Given the description of an element on the screen output the (x, y) to click on. 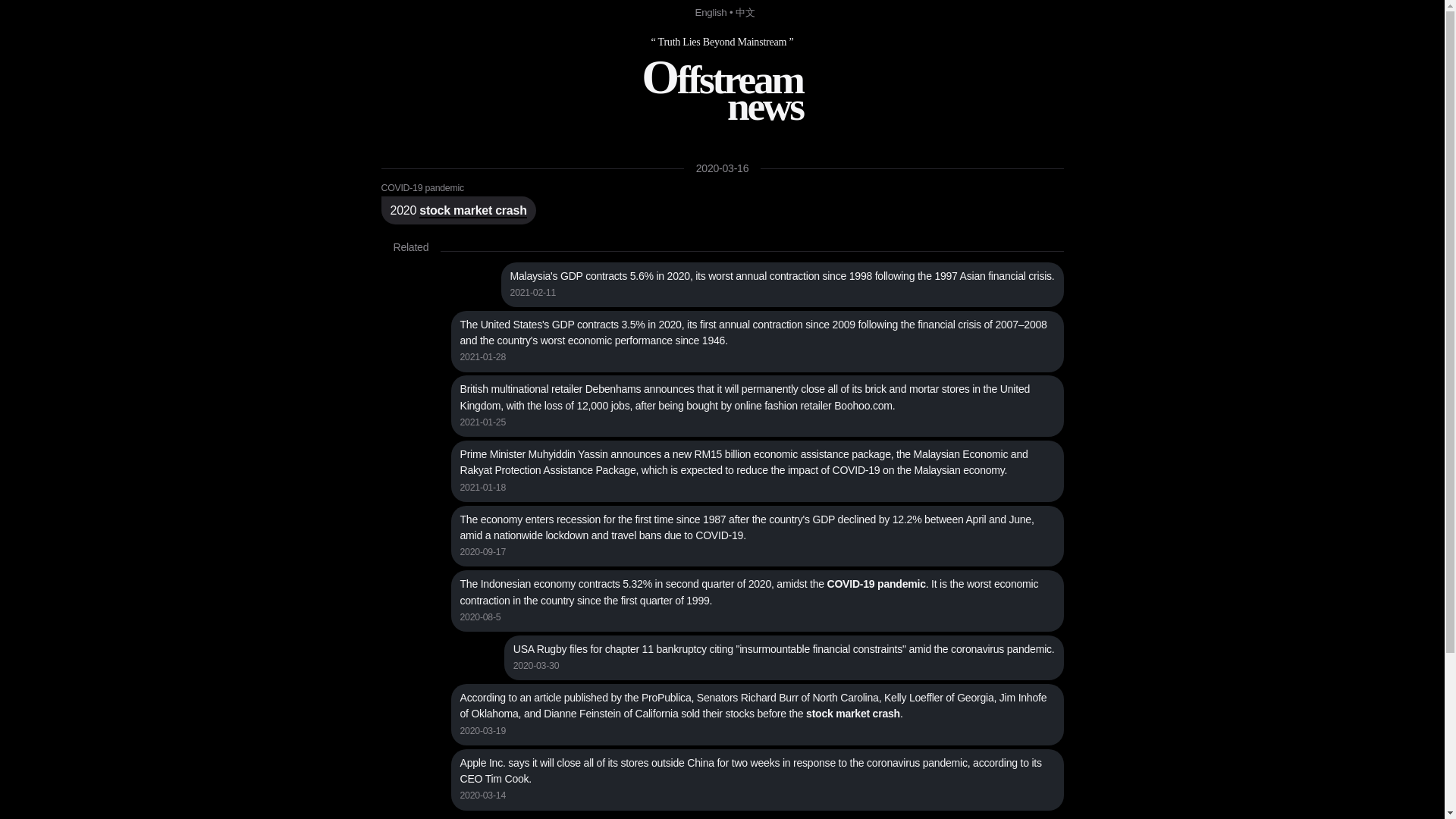
English (710, 12)
stock market crash (472, 210)
COVID-19 pandemic (421, 188)
2020-03-16 (722, 169)
